Given the description of an element on the screen output the (x, y) to click on. 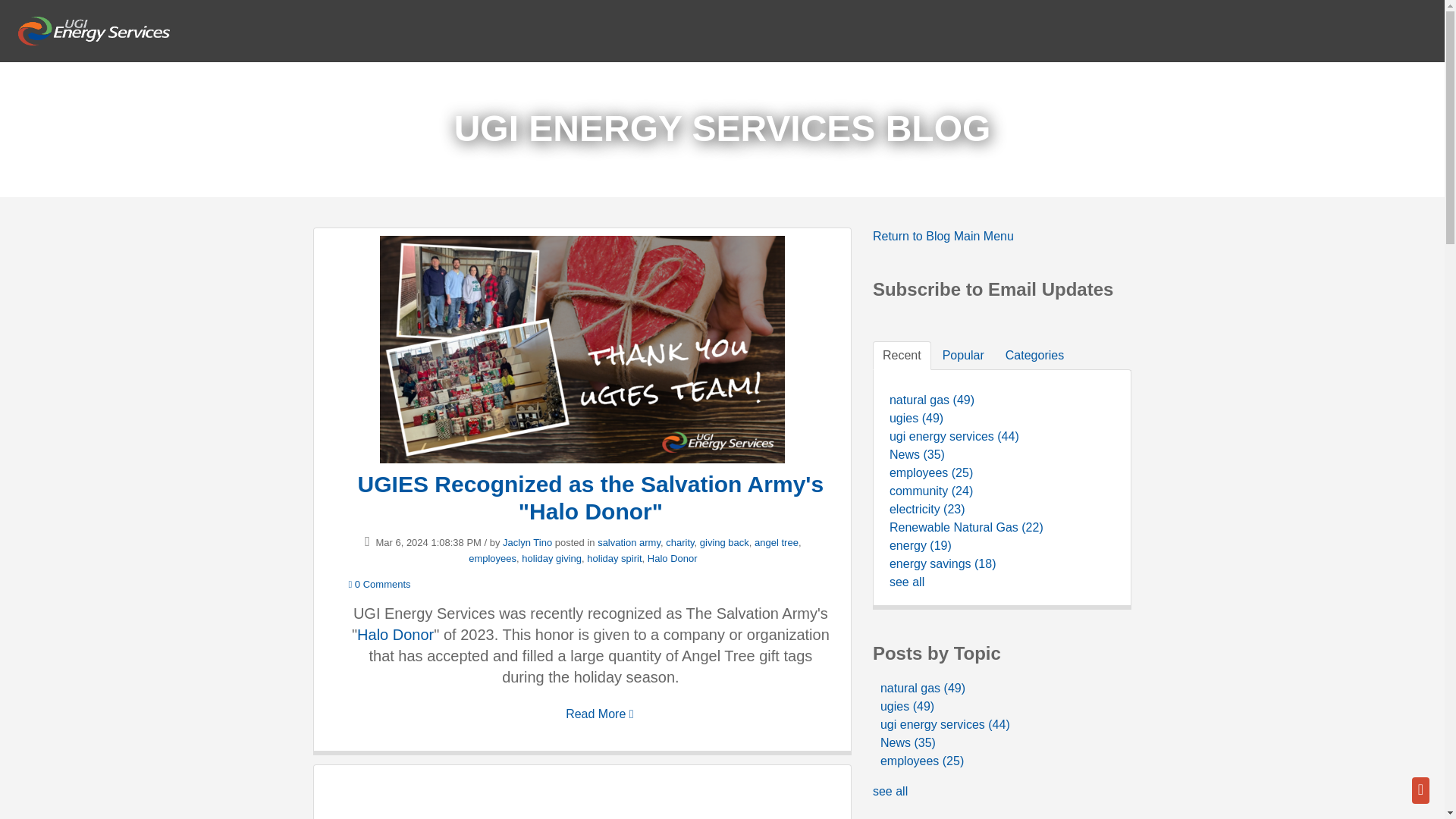
UGI Energy Services logo (93, 30)
charity (679, 542)
0 Comments (379, 583)
UGIES Recognized as the Salvation Army's "Halo Donor" (591, 497)
employees (492, 558)
Read More (599, 713)
holiday spirit (614, 558)
angel tree (775, 542)
Halo Donor (672, 558)
holiday giving (550, 558)
